Given the description of an element on the screen output the (x, y) to click on. 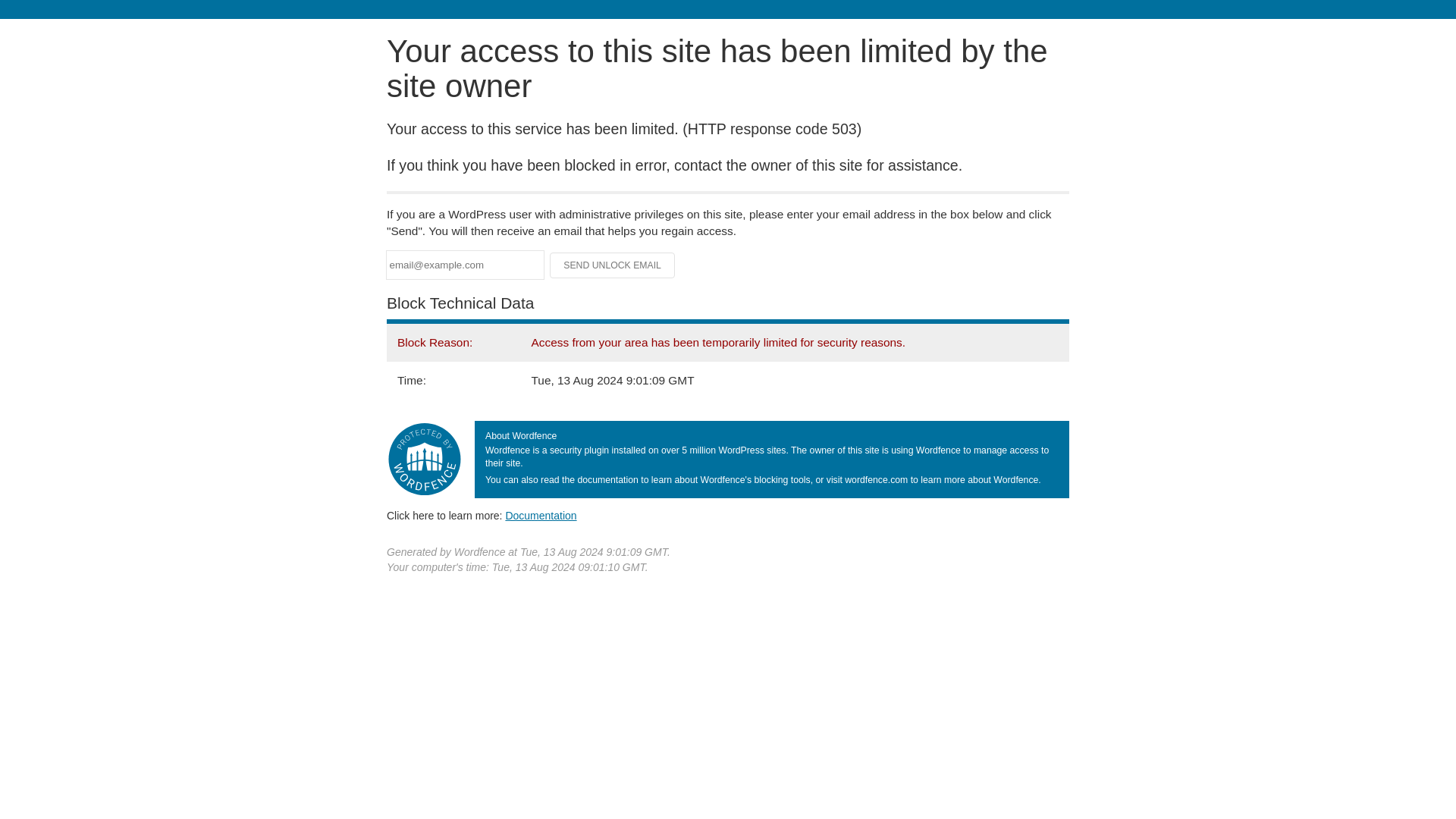
Send Unlock Email (612, 265)
Documentation (540, 515)
Send Unlock Email (612, 265)
